Given the description of an element on the screen output the (x, y) to click on. 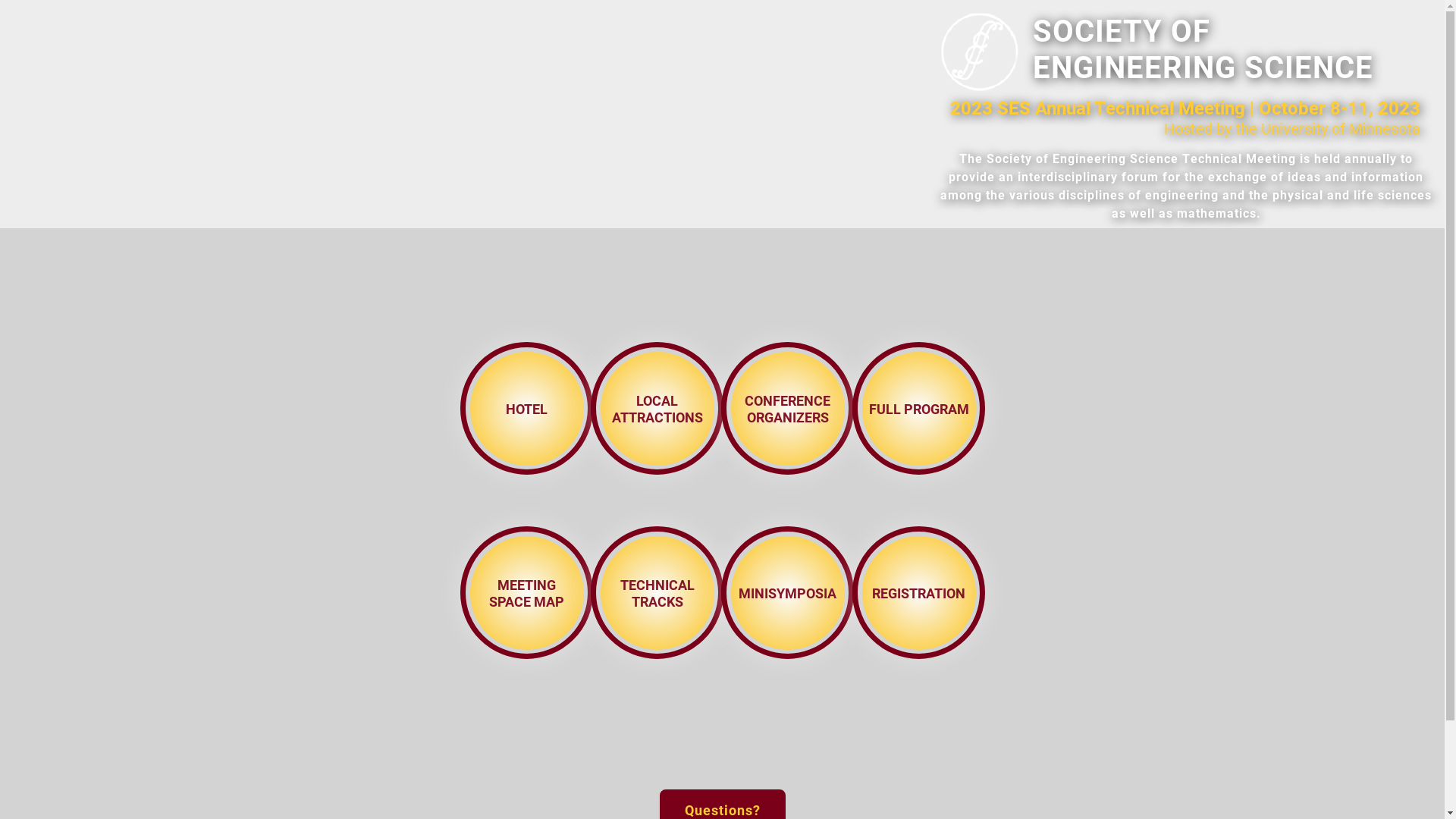
FULL PROGRAM Element type: text (918, 407)
LOCAL
ATTRACTIONS Element type: text (656, 407)
MINISYMPOSIA Element type: text (787, 592)
TECHNICAL
TRACKS Element type: text (656, 592)
CONFERENCE
ORGANIZERS Element type: text (787, 407)
HOTEL Element type: text (526, 407)
MEETING
SPACE MAP Element type: text (526, 592)
REGISTRATION Element type: text (918, 592)
